Given the description of an element on the screen output the (x, y) to click on. 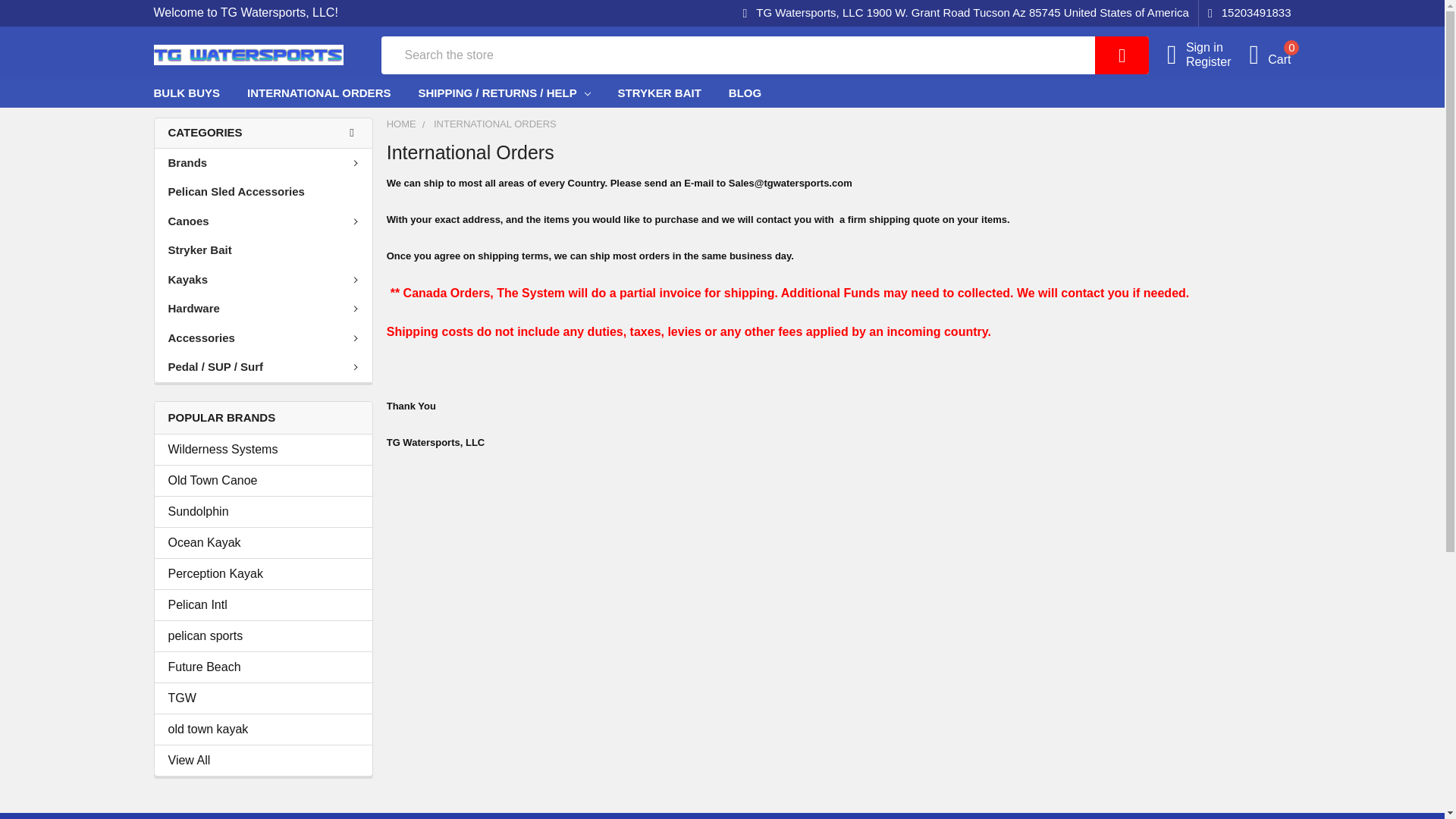
Register (1217, 60)
Pelican Intl (263, 605)
old town kayak (1269, 54)
Sundolphin (263, 729)
TG Watersports       (263, 511)
Perception Kayak (247, 55)
Ocean Kayak (263, 574)
15203491833 (263, 542)
Wilderness Systems (1244, 13)
